Given the description of an element on the screen output the (x, y) to click on. 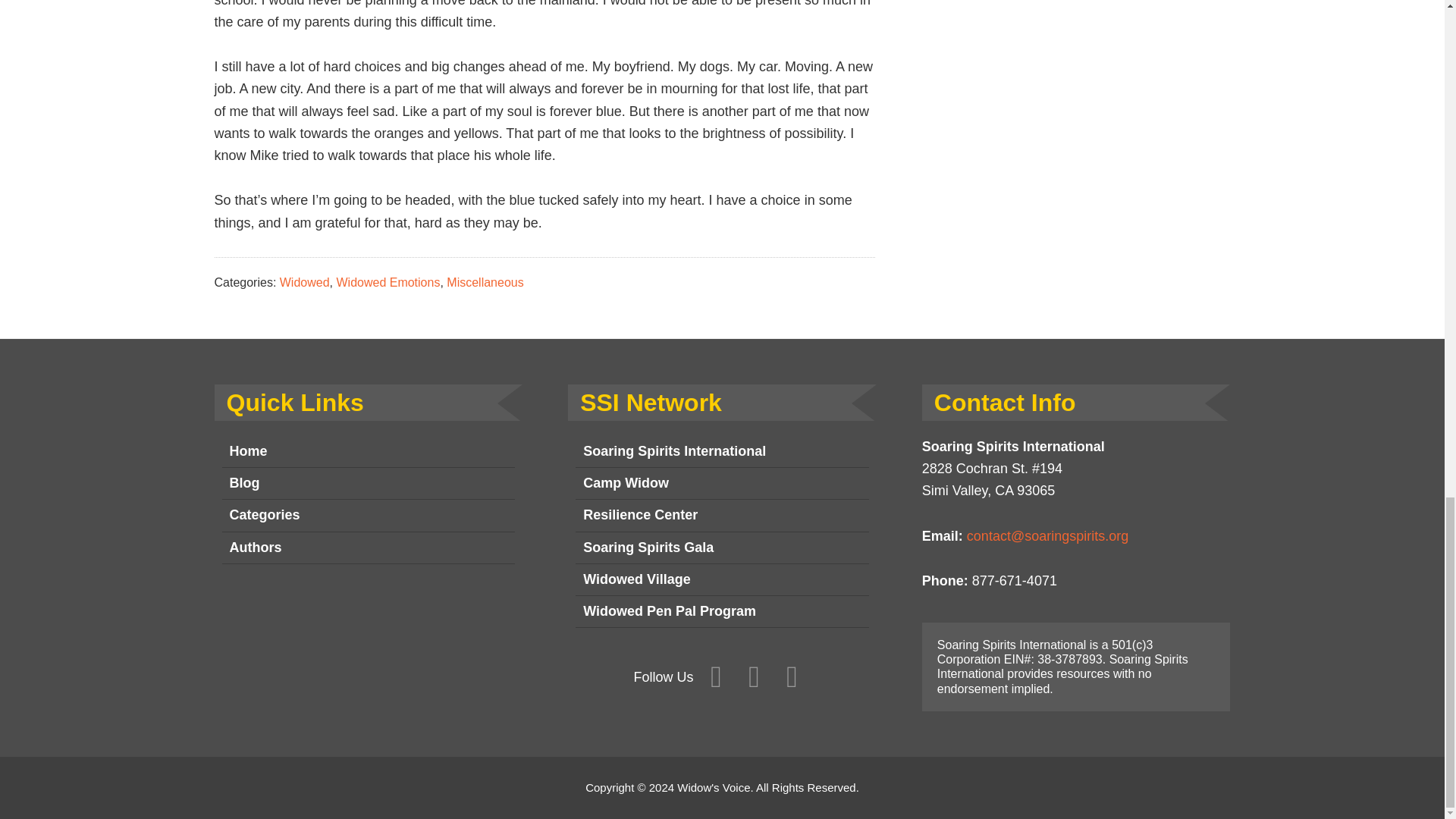
Blog (368, 483)
Facebook (716, 677)
Authors (368, 547)
Widowed Pen Pal Program (722, 612)
Resilience Center (722, 515)
Soaring Spirits Gala (722, 547)
Widowed (304, 282)
Widowed Village (722, 580)
Categories (368, 515)
Widowed Emotions (387, 282)
YouTube (791, 677)
Camp Widow (722, 483)
Miscellaneous (484, 282)
Soaring Spirits International (722, 451)
Home (368, 451)
